Given the description of an element on the screen output the (x, y) to click on. 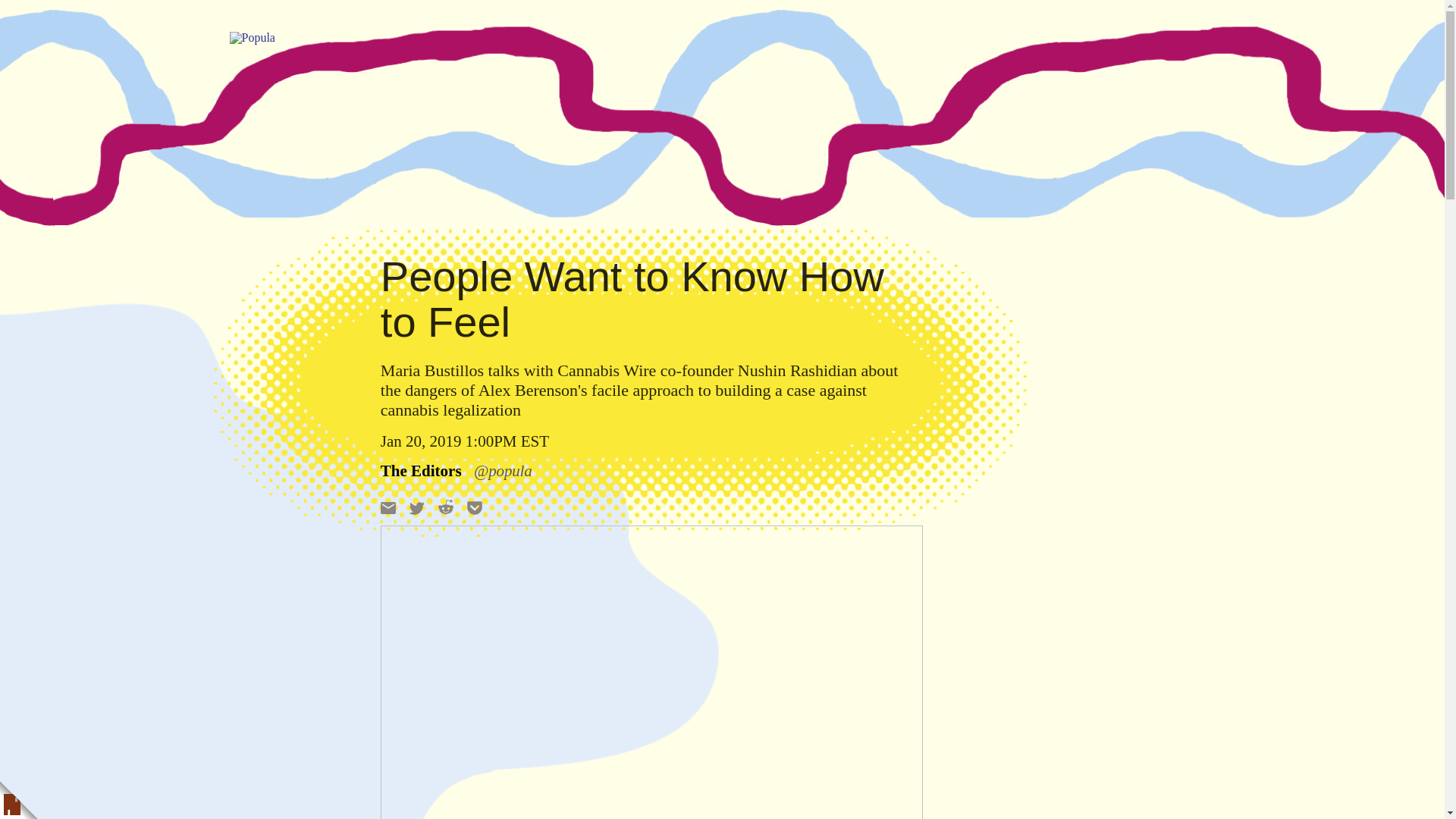
Click to share on Reddit (445, 506)
Twitter (417, 507)
See more (651, 470)
Click to email a link to a friend (388, 507)
Click to share on Pocket (474, 507)
The Editors (420, 470)
Reddit (445, 506)
Click to share on Twitter (417, 507)
Email (388, 507)
Pocket (474, 507)
